Given the description of an element on the screen output the (x, y) to click on. 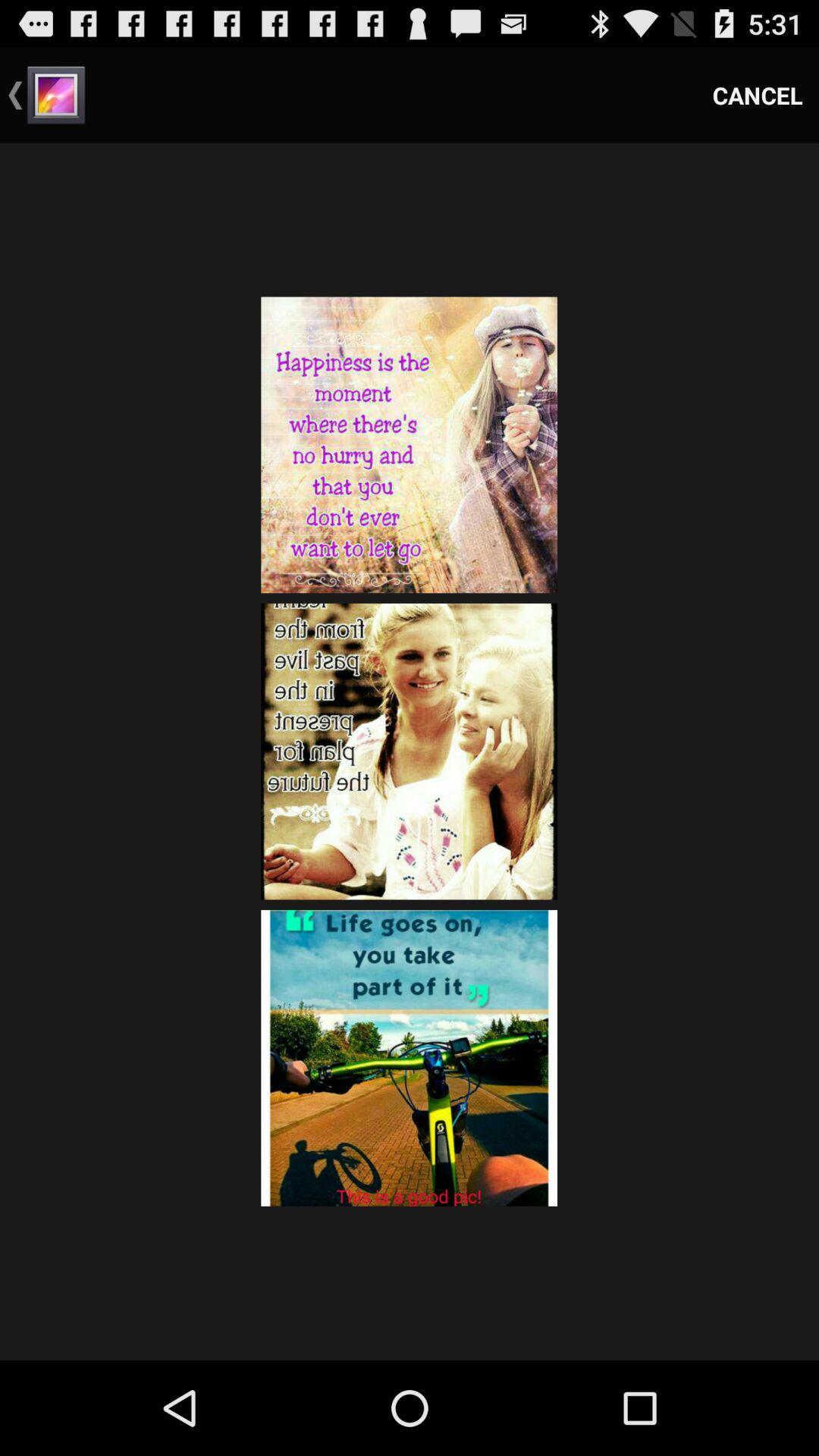
click icon at the top right corner (757, 95)
